Given the description of an element on the screen output the (x, y) to click on. 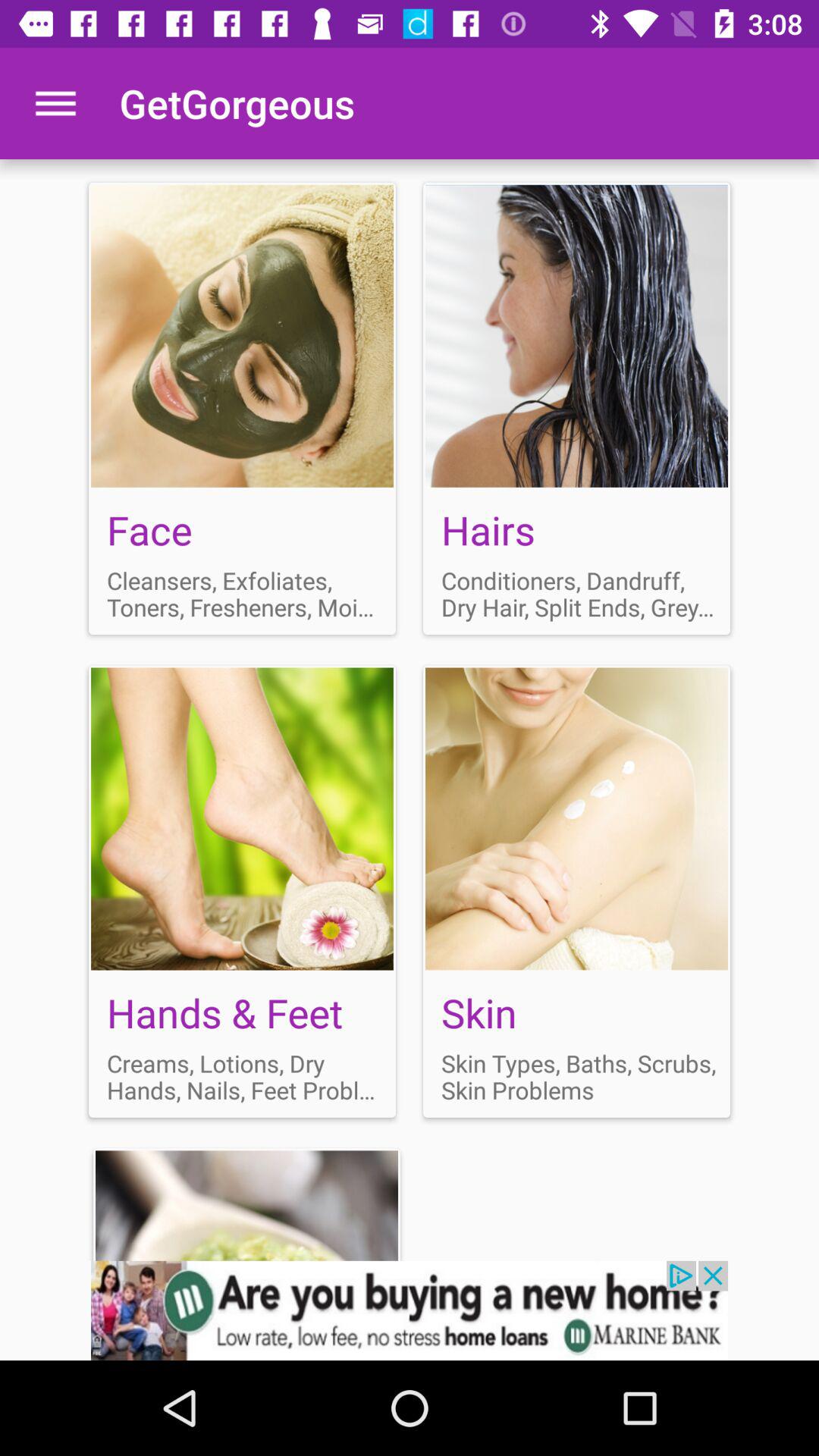
select advertisement (409, 1310)
